Given the description of an element on the screen output the (x, y) to click on. 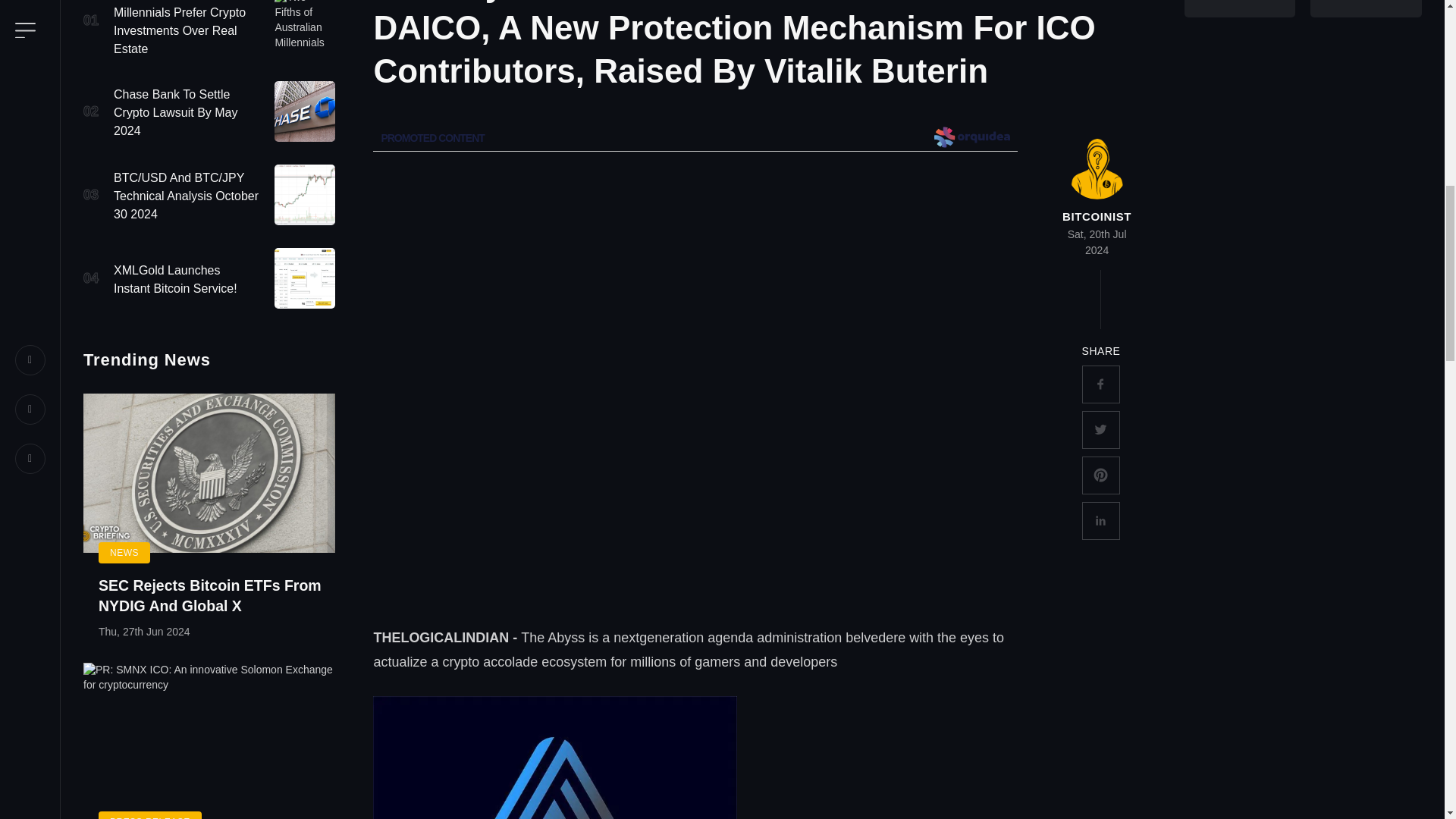
Sat, 20th Jul 2024 (1096, 242)
Share on Linkedin (1100, 520)
Share on Pinterest (1100, 475)
Posts by Bitcoinist (1096, 215)
Share on Twitter (1100, 429)
Share on Facebook (1100, 384)
Posts by Bitcoinist (1096, 168)
